Given the description of an element on the screen output the (x, y) to click on. 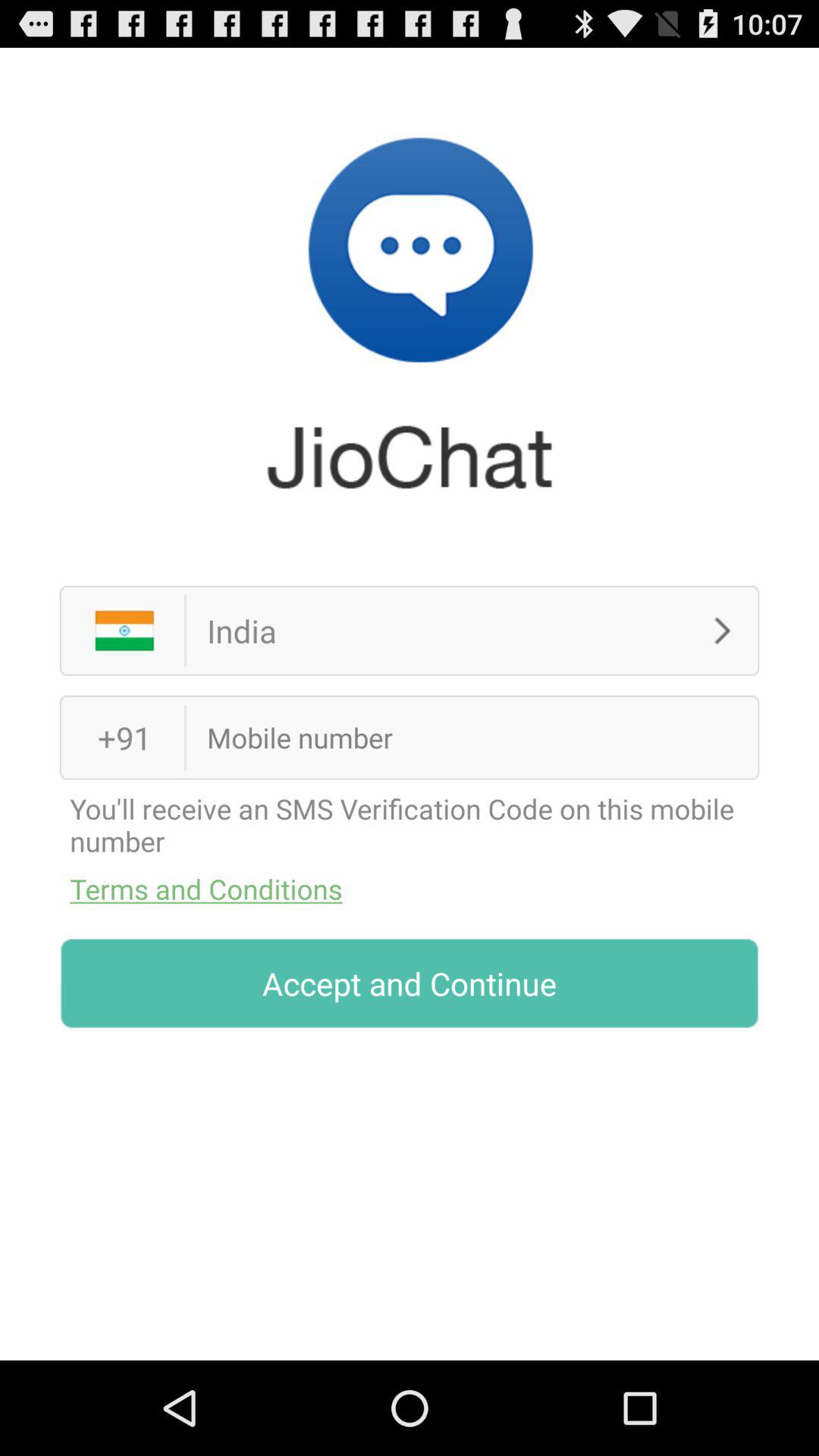
enter phone number (448, 737)
